Given the description of an element on the screen output the (x, y) to click on. 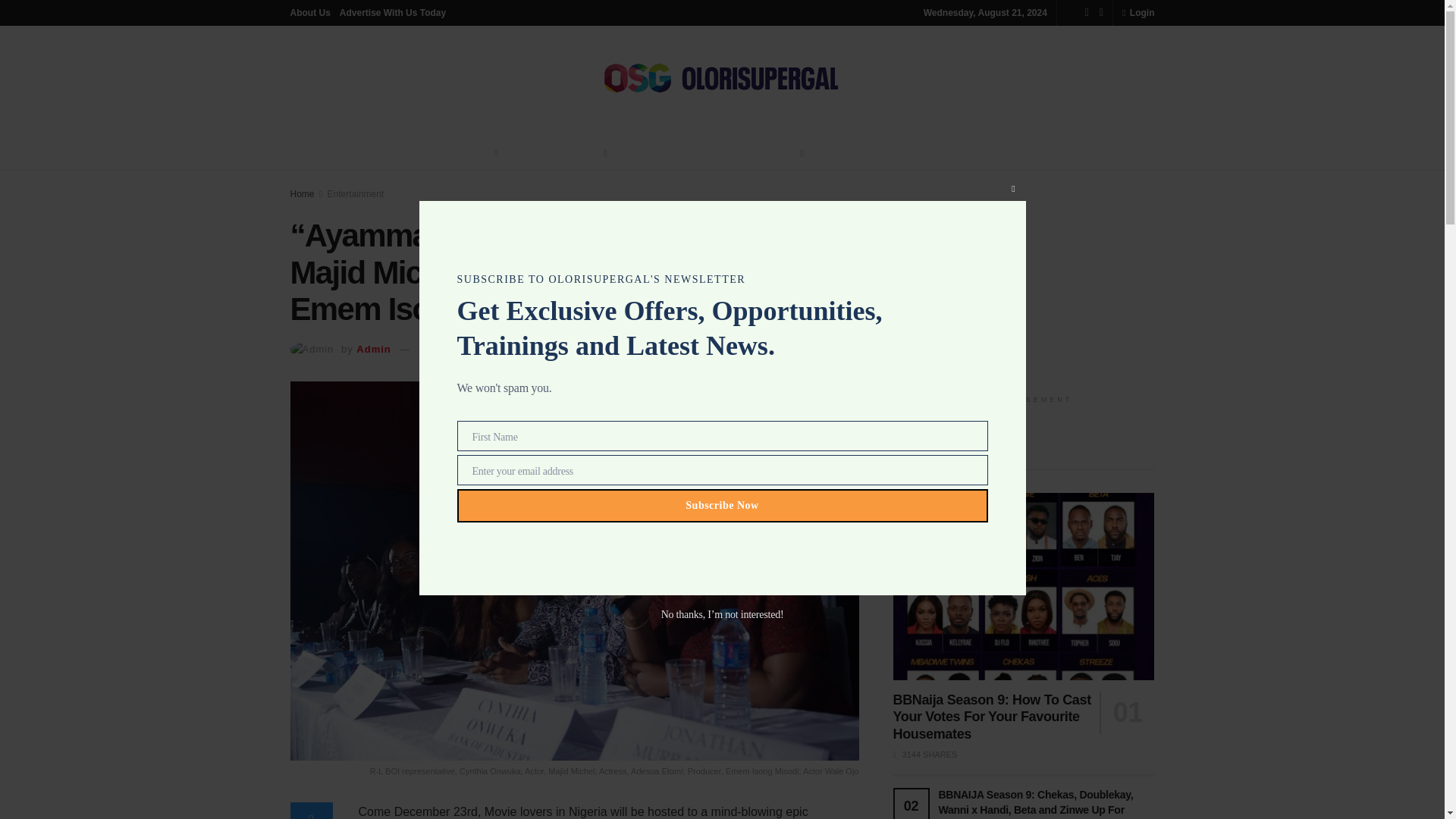
About Us (309, 12)
LIFESTYLE (650, 152)
NEWS (478, 152)
ENTERTAINMENT (558, 152)
Advertisement (1023, 288)
TRAVEL (838, 152)
Advertise With Us Today (392, 12)
Login (1138, 12)
OSG ZA (952, 152)
EVENTS (896, 152)
